Given the description of an element on the screen output the (x, y) to click on. 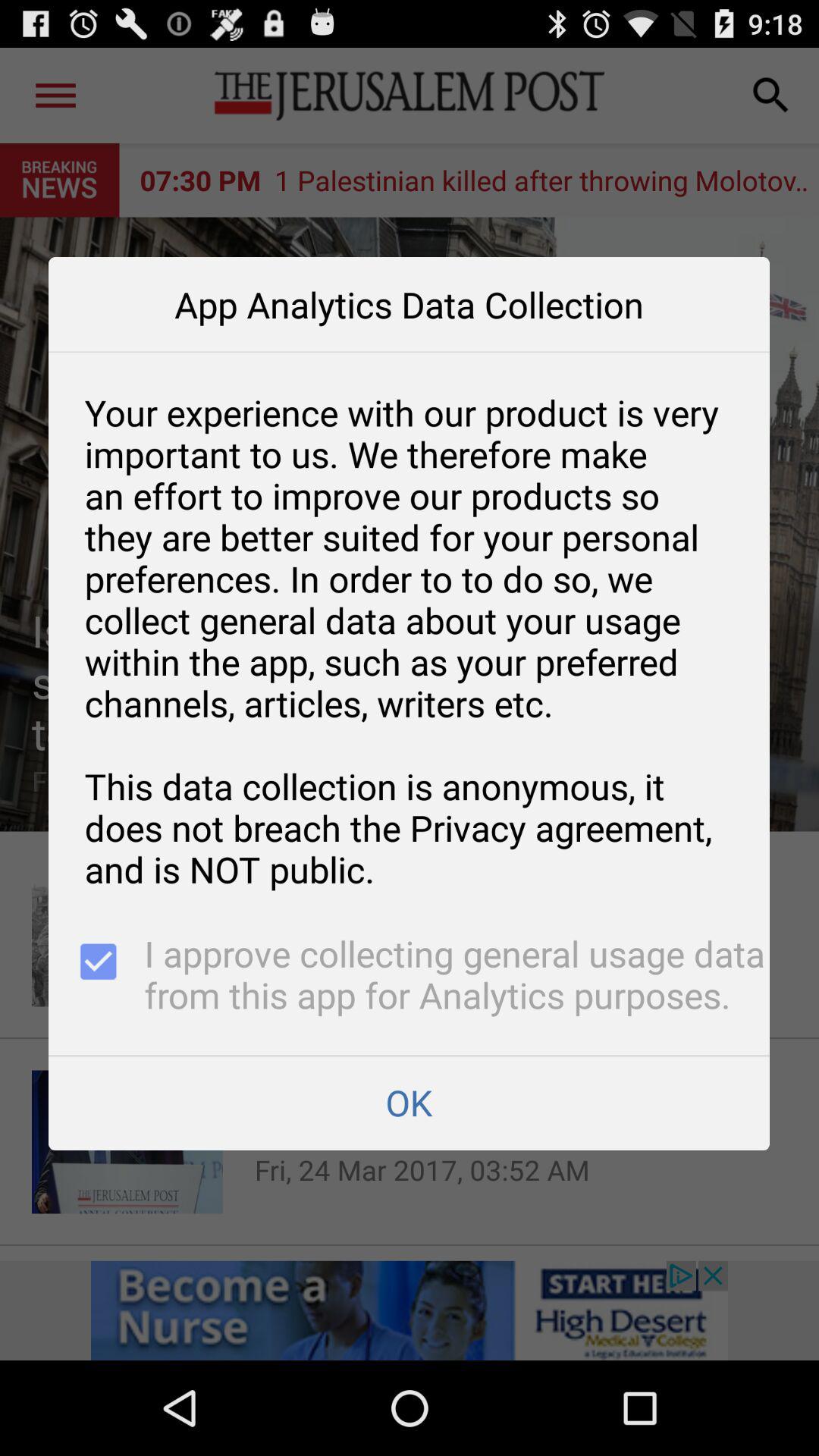
select app next to i approve collecting (96, 976)
